Given the description of an element on the screen output the (x, y) to click on. 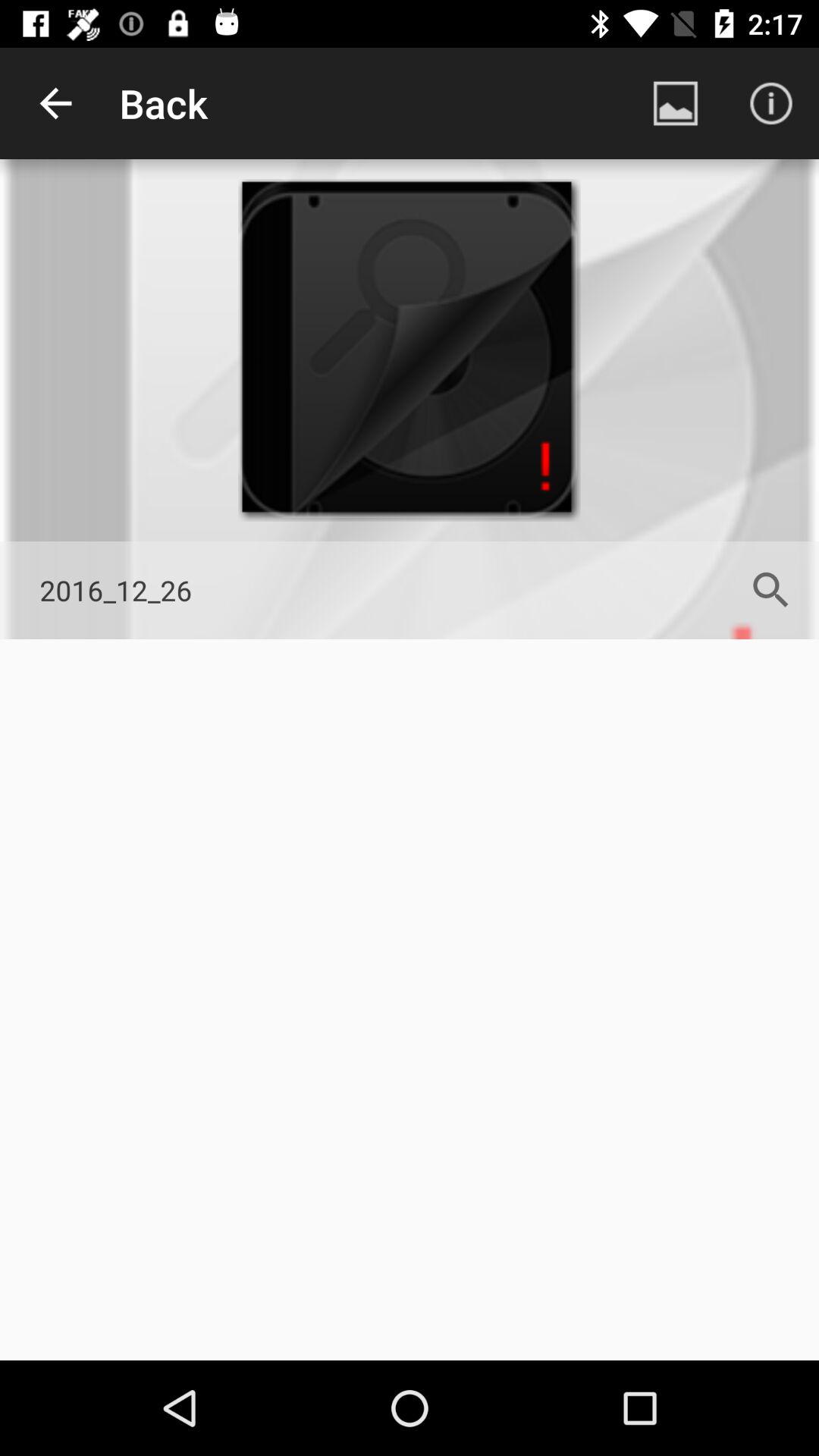
open the item to the right of 2016_12_26 item (771, 590)
